Given the description of an element on the screen output the (x, y) to click on. 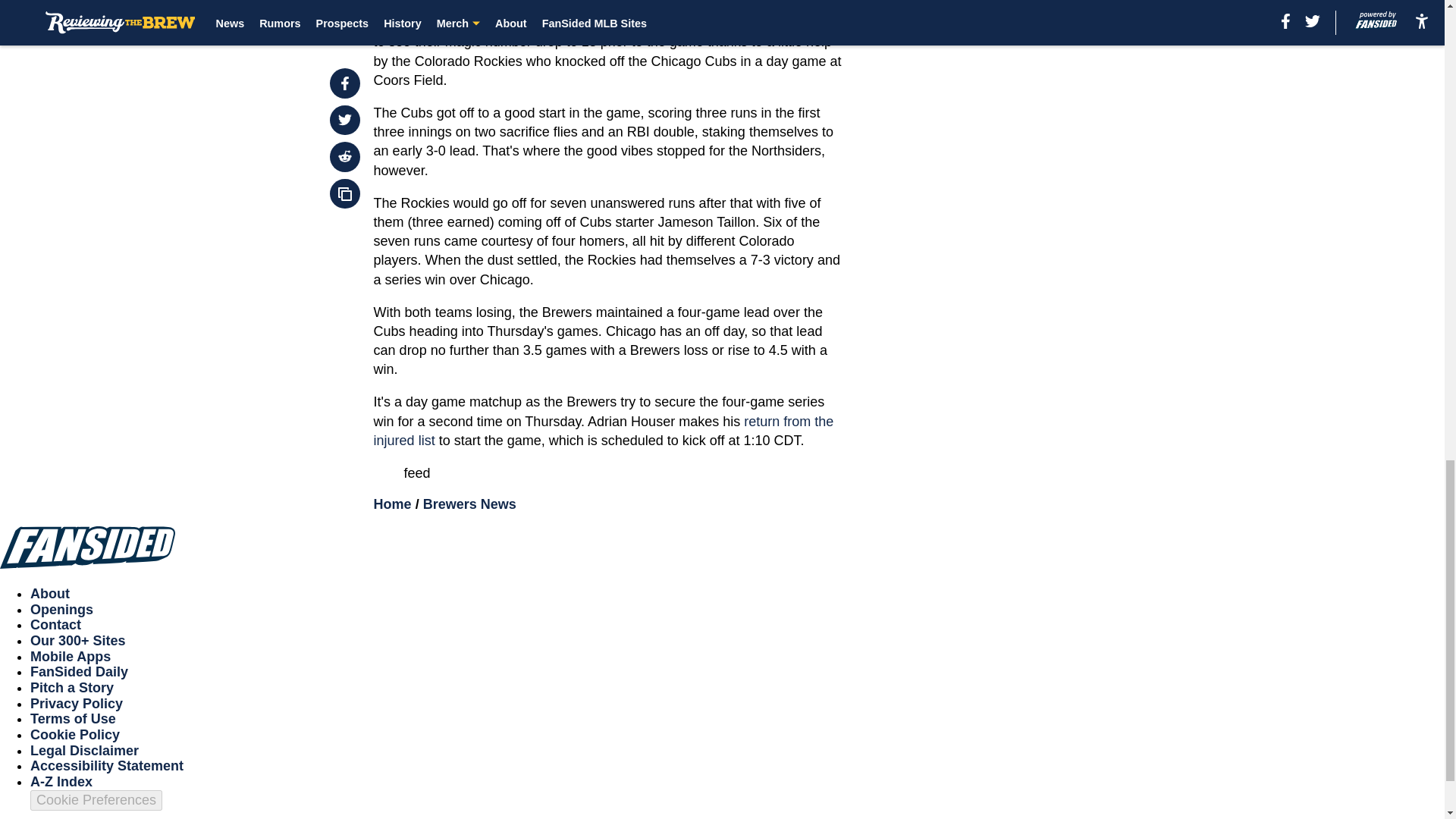
Contact (55, 624)
About (49, 593)
Openings (61, 609)
return from the injured list (604, 430)
Mobile Apps (70, 656)
Home (393, 503)
Brewers News (469, 503)
